Given the description of an element on the screen output the (x, y) to click on. 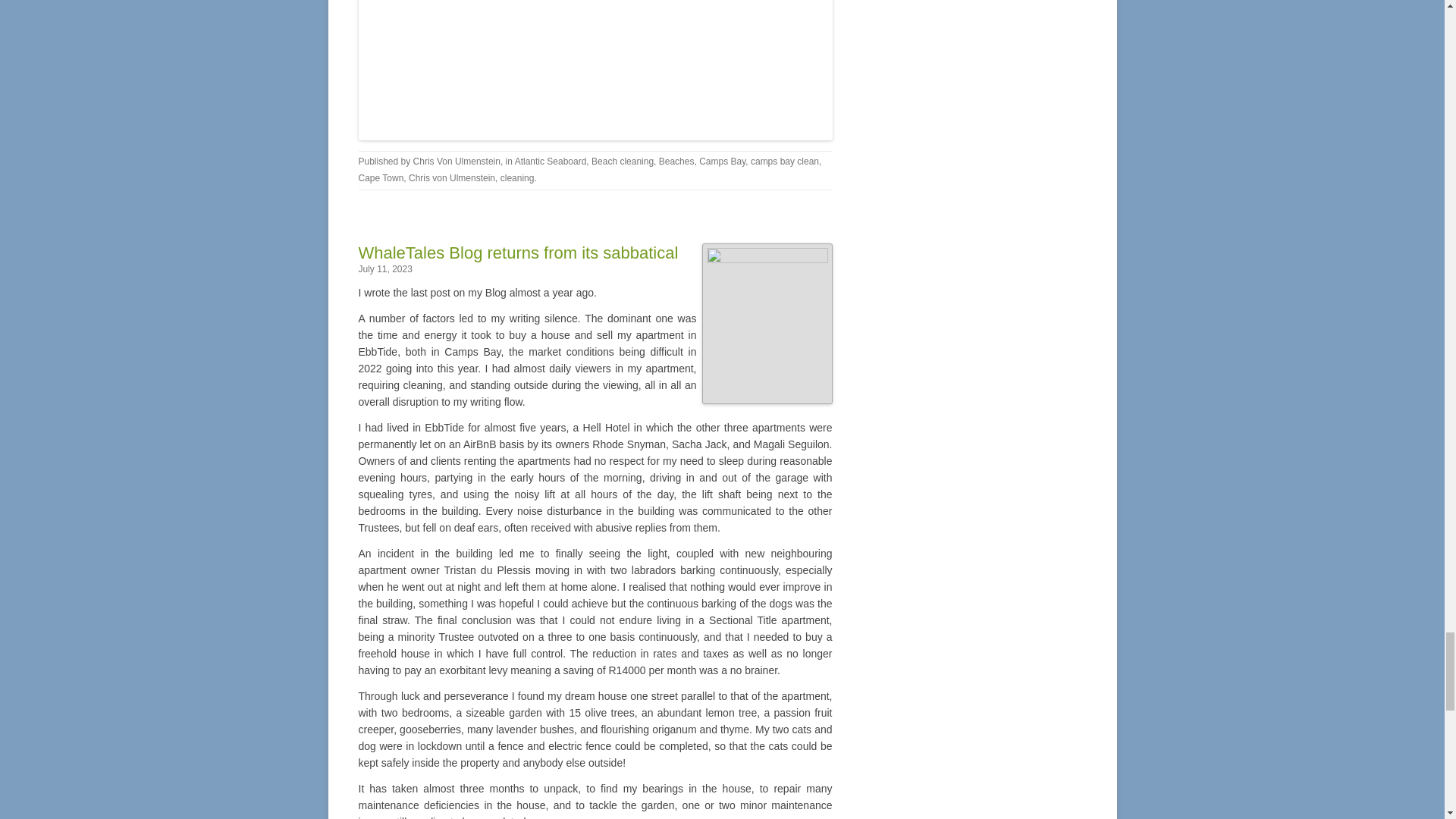
Cape Town (380, 177)
10:37 am (385, 268)
View all posts by Chris Von Ulmenstein (456, 161)
Atlantic Seaboard (550, 161)
Chris Von Ulmenstein (456, 161)
camps bay clean (784, 161)
Permalink to WhaleTales Blog returns from its sabbatical (518, 252)
Chris von Ulmenstein (452, 177)
Beach cleaning (622, 161)
Camps Bay (721, 161)
